Given the description of an element on the screen output the (x, y) to click on. 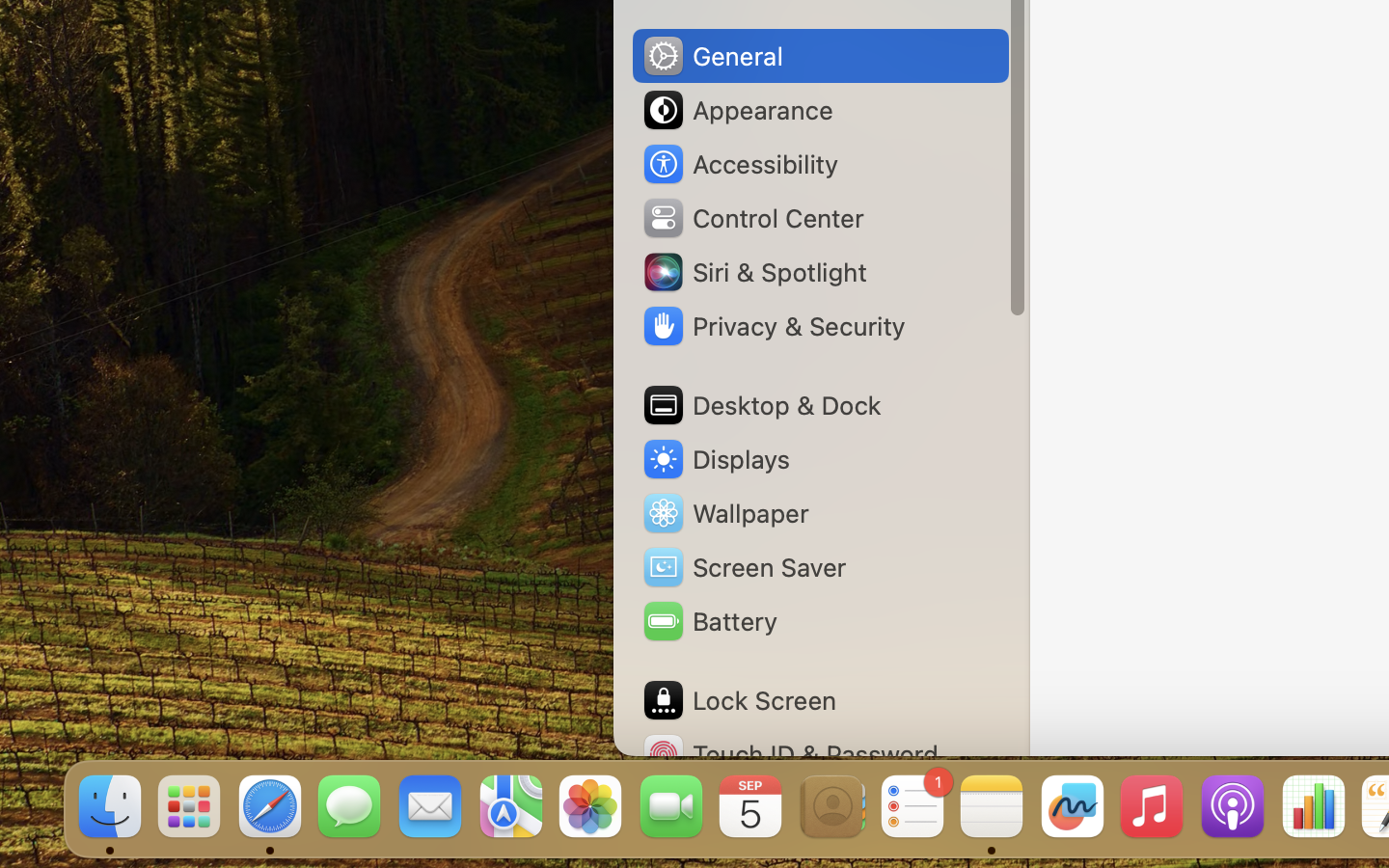
General Element type: AXStaticText (711, 55)
Battery Element type: AXStaticText (708, 620)
Lock Screen Element type: AXStaticText (738, 700)
